Given the description of an element on the screen output the (x, y) to click on. 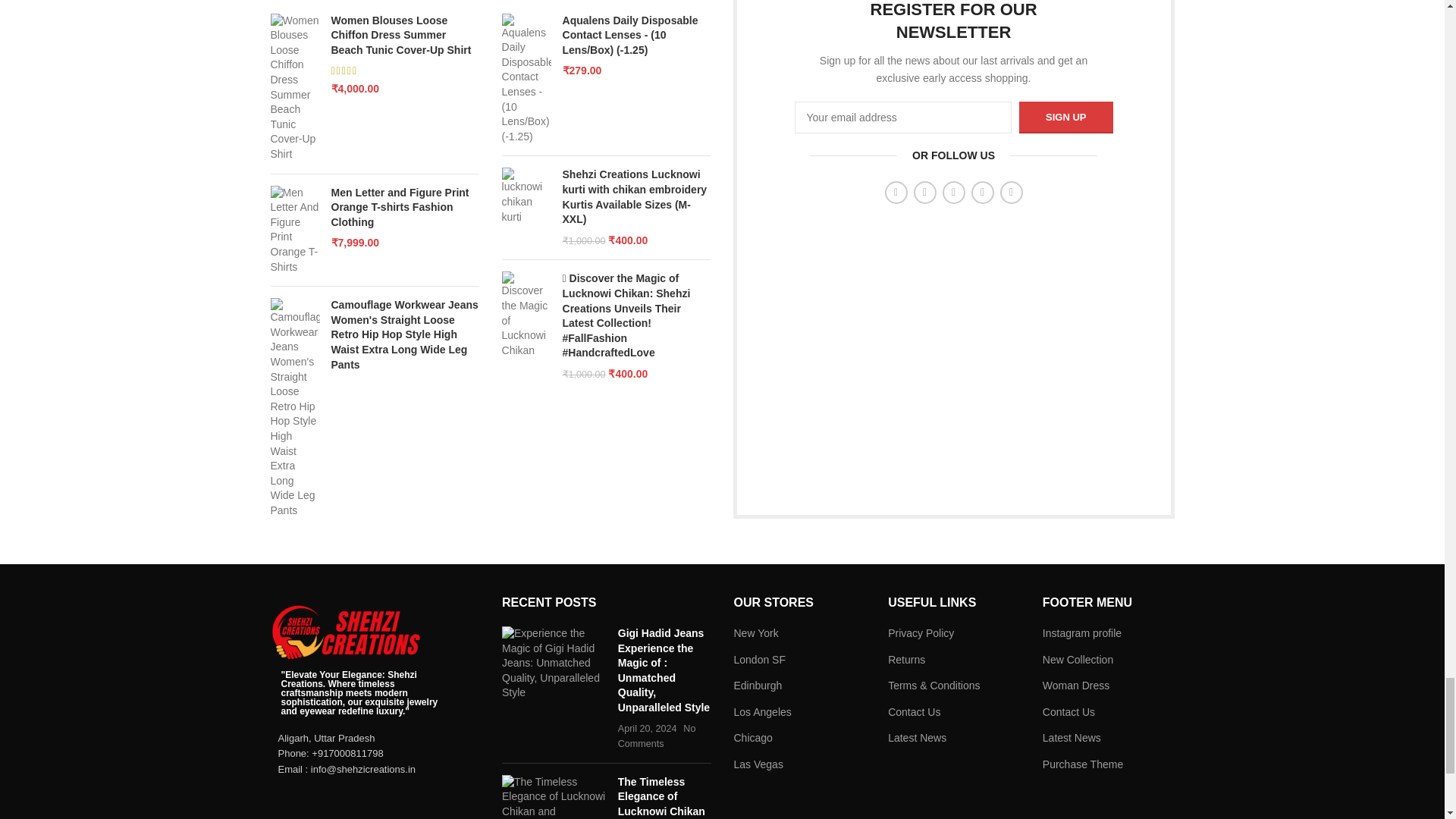
Sign up (1065, 117)
